Given the description of an element on the screen output the (x, y) to click on. 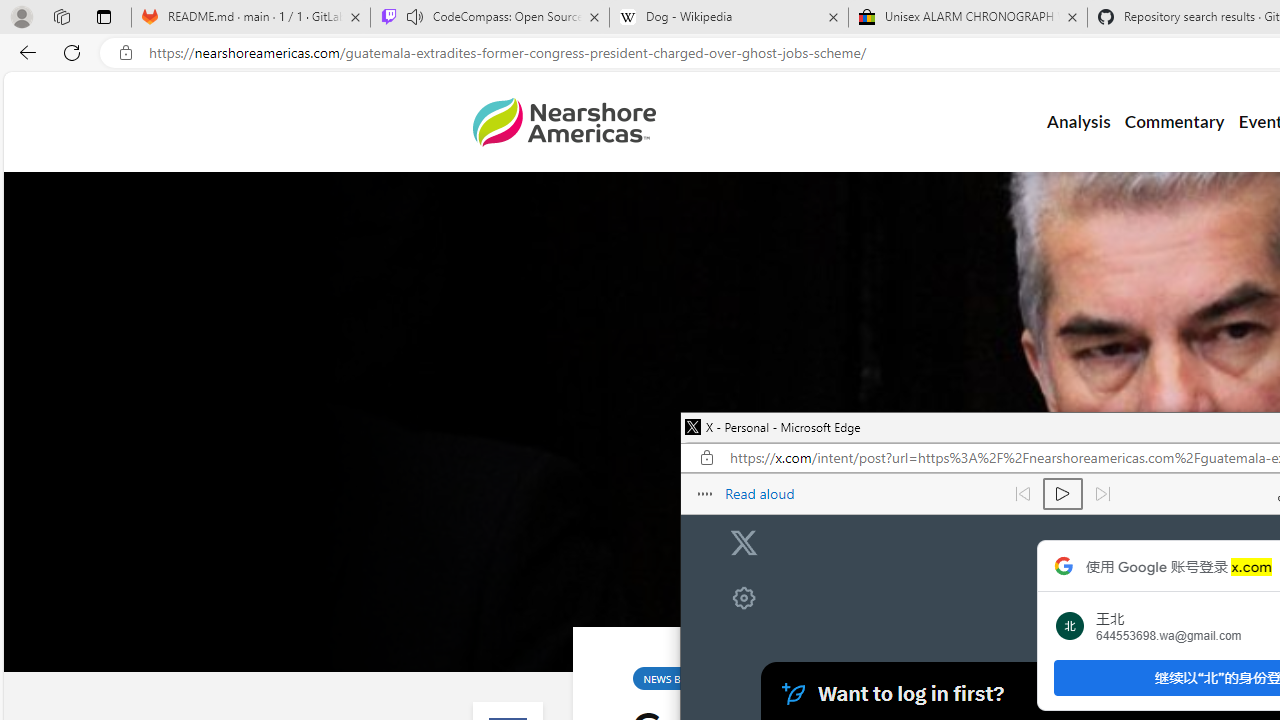
Nearshore Americas (563, 121)
Analysis (1078, 121)
Dog - Wikipedia (729, 17)
Mute tab (414, 16)
Continue to read aloud (Ctrl+Shift+U) (1061, 493)
Read previous paragraph (1022, 493)
Commentary (1174, 121)
